Given the description of an element on the screen output the (x, y) to click on. 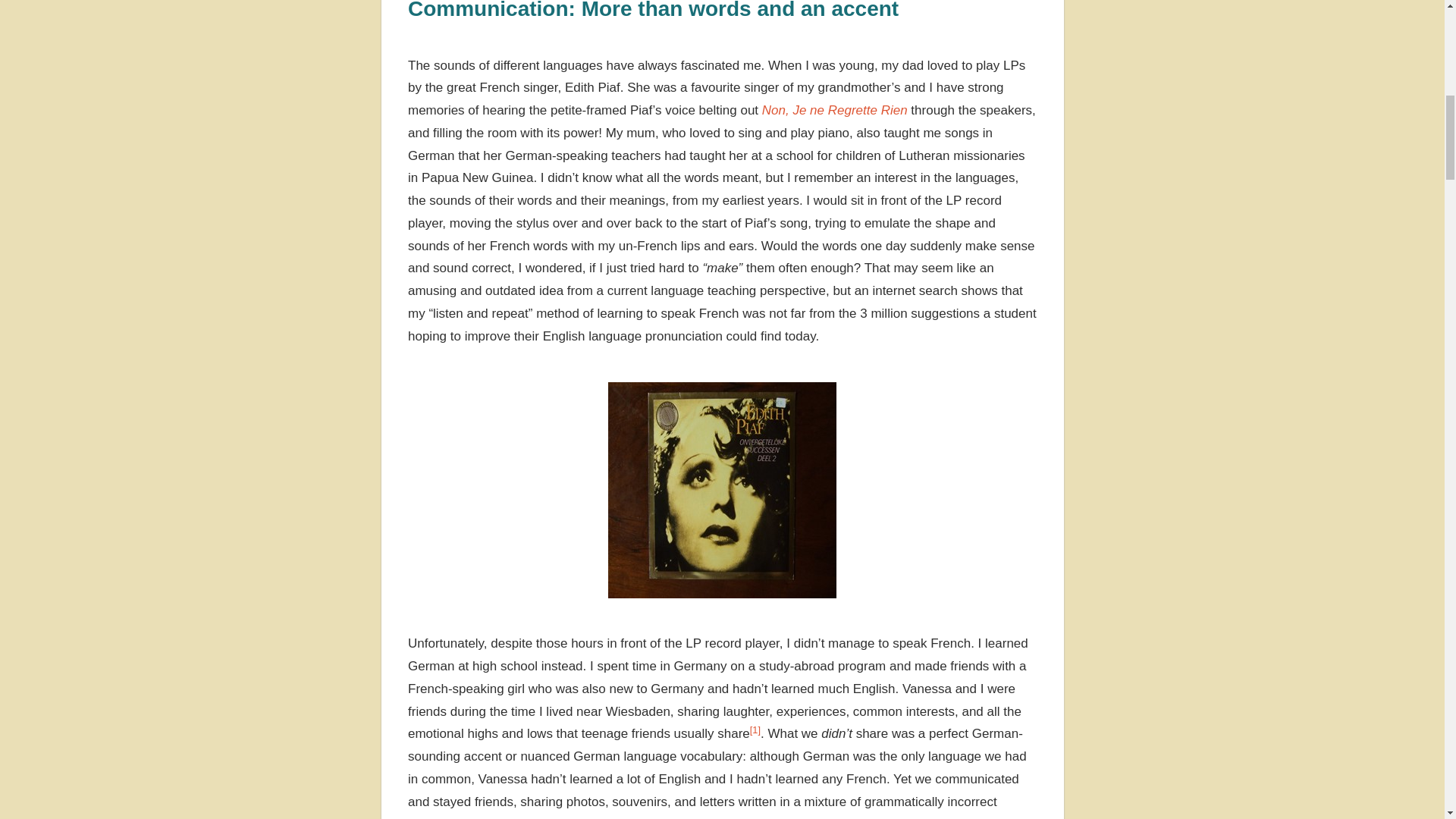
Non, Je ne Regrette Rien (834, 110)
